Given the description of an element on the screen output the (x, y) to click on. 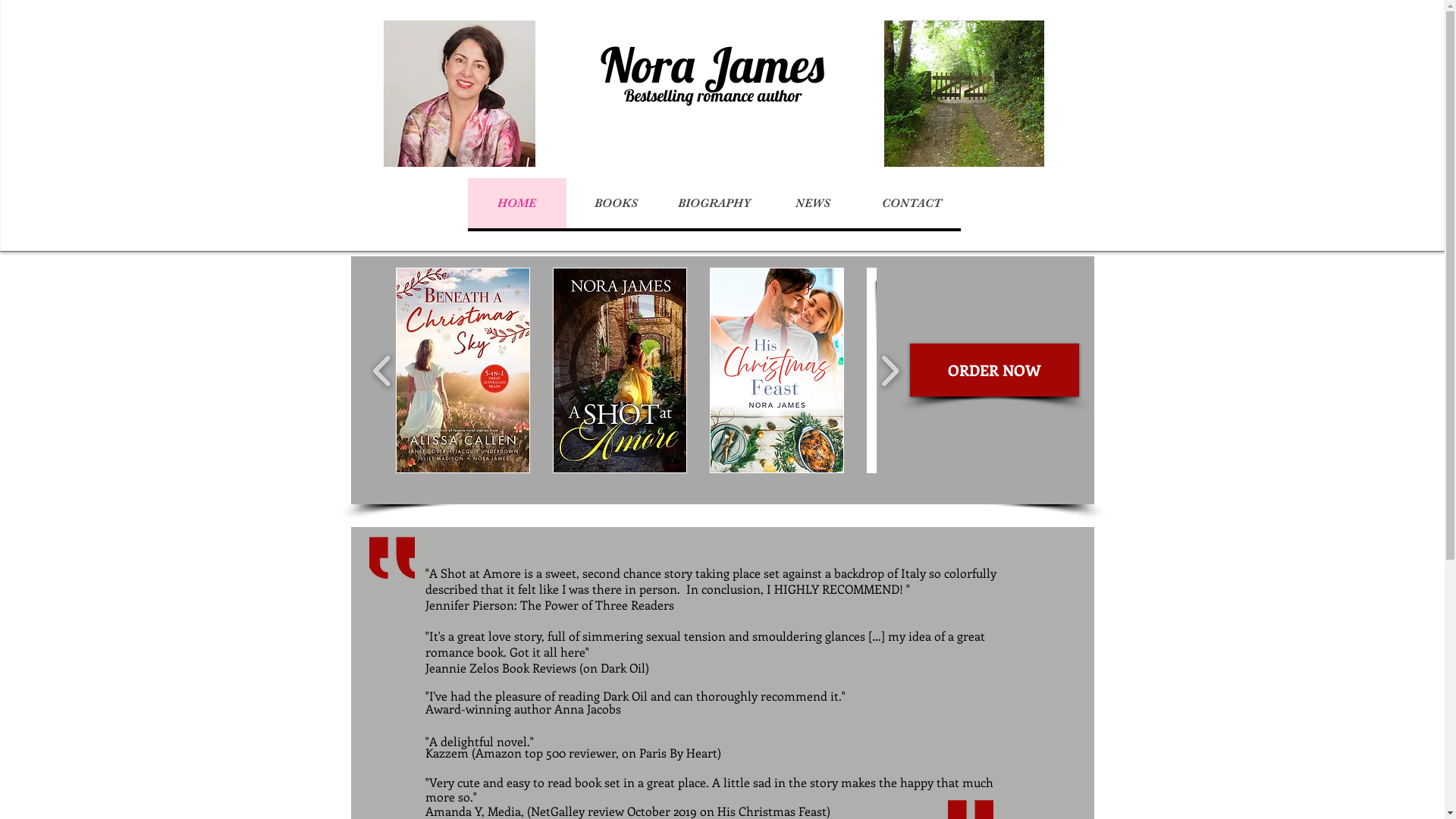
IMG_4151.JPG Element type: hover (964, 93)
ORDER NOW Element type: text (994, 369)
NEWS Element type: text (811, 203)
HOME Element type: text (516, 203)
BIOGRAPHY Element type: text (713, 203)
La%2520Foret%2520Fouesnant%25203_edited_ Element type: hover (459, 93)
Jennifer Pierson: The Power of Three Readers Element type: text (548, 604)
CONTACT Element type: text (910, 203)
BOOKS Element type: text (614, 203)
